Given the description of an element on the screen output the (x, y) to click on. 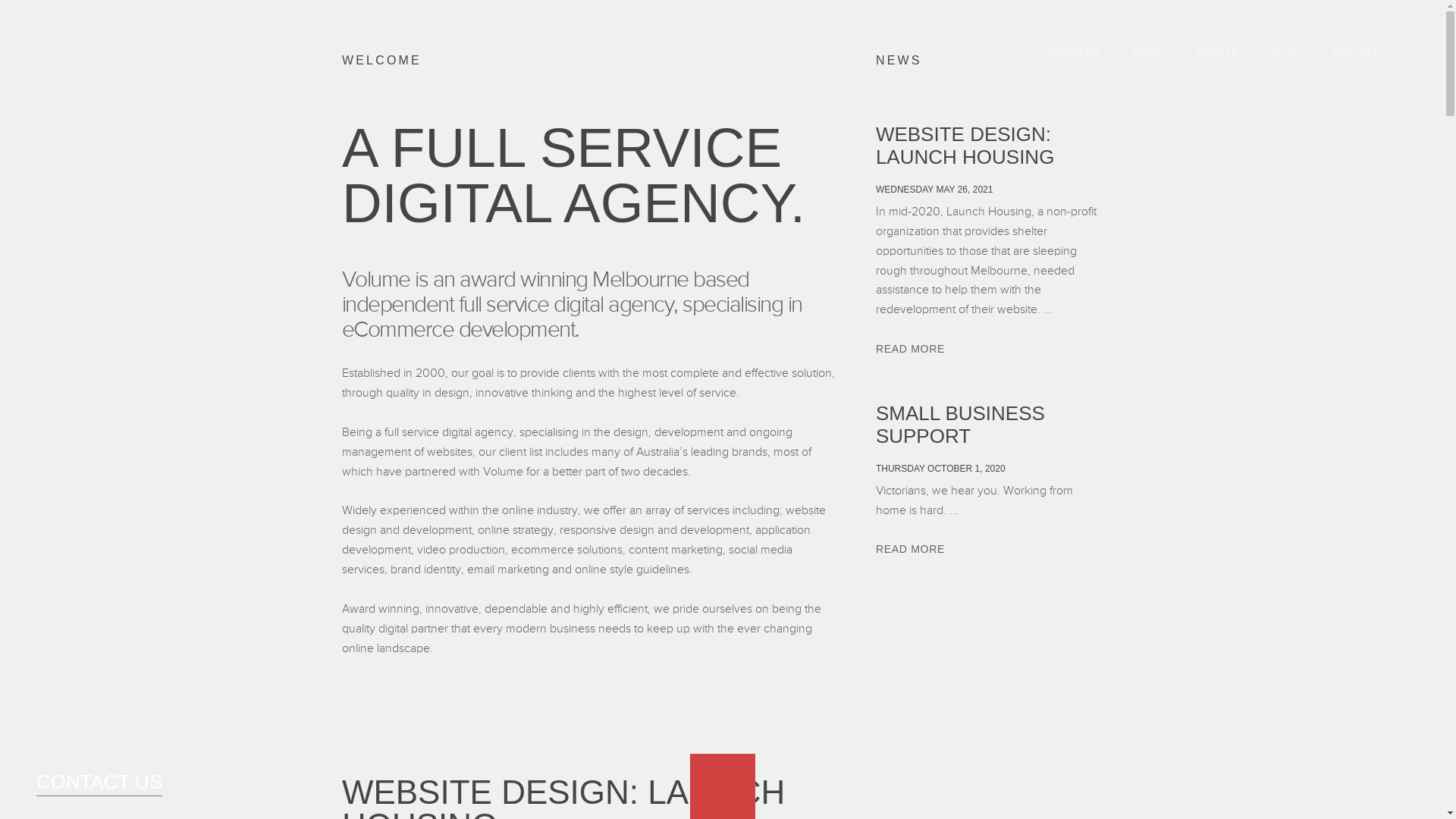
BLOG Element type: text (1284, 52)
READ MORE Element type: text (909, 349)
SERVICES Element type: text (1073, 52)
CONTACT Element type: text (1354, 52)
READ MORE Element type: text (909, 549)
WORK Element type: text (1147, 52)
HOME Element type: text (97, 52)
CONTACT US Element type: text (99, 783)
CLIENTS Element type: text (1216, 52)
